Given the description of an element on the screen output the (x, y) to click on. 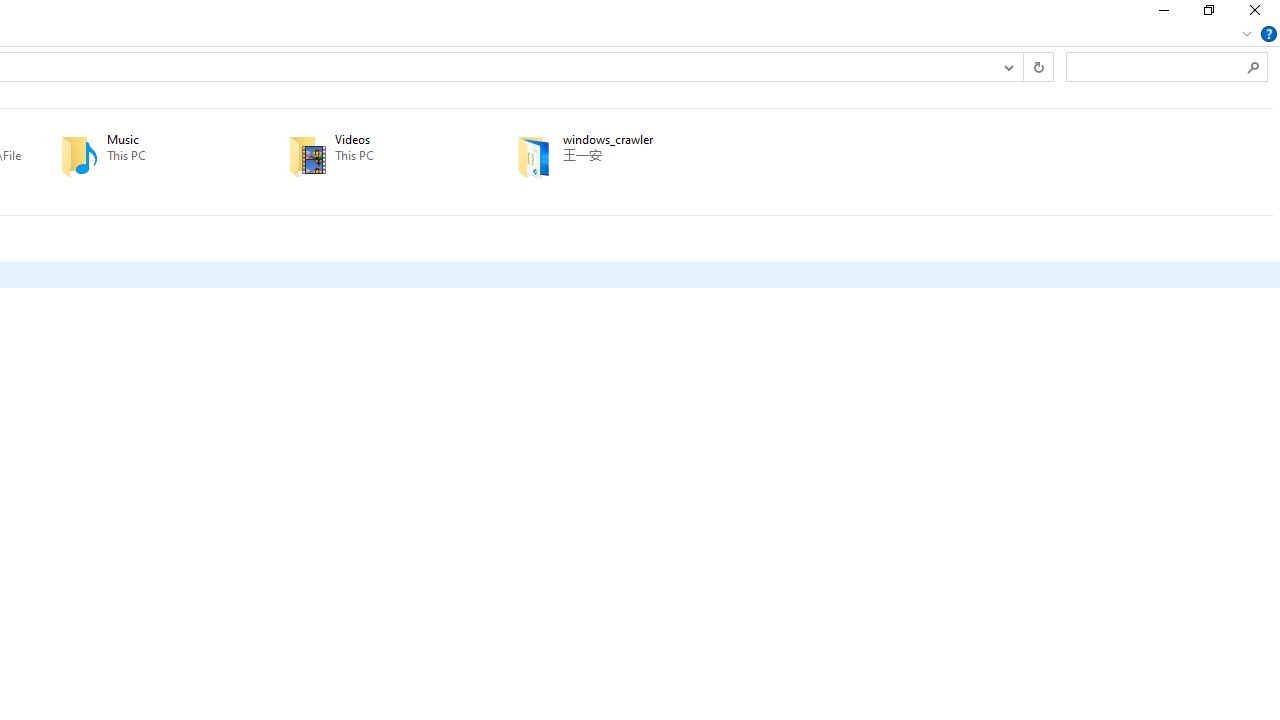
Help (1269, 33)
